Given the description of an element on the screen output the (x, y) to click on. 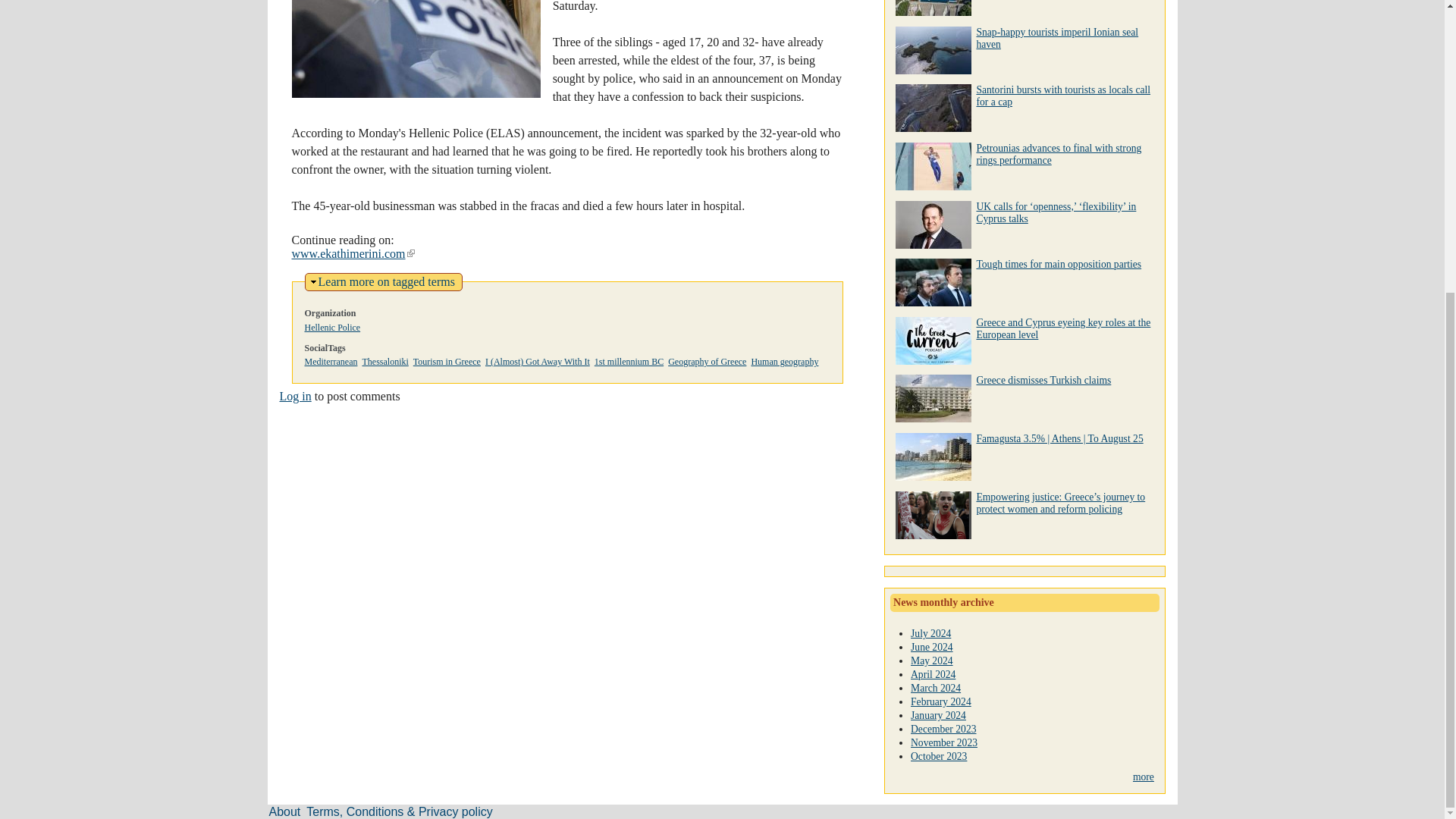
Hellenic Police (332, 327)
Geography of Greece (706, 361)
Tourism in Greece (446, 361)
Mediterranean (331, 361)
Human geography (784, 361)
Petrounias advances to final with strong rings performance (1058, 154)
Snap-happy tourists imperil Ionian seal haven (386, 281)
Thessaloniki (1056, 37)
1st millennium BC (384, 361)
Log in (628, 361)
Santorini bursts with tourists as locals call for a cap (295, 395)
